Given the description of an element on the screen output the (x, y) to click on. 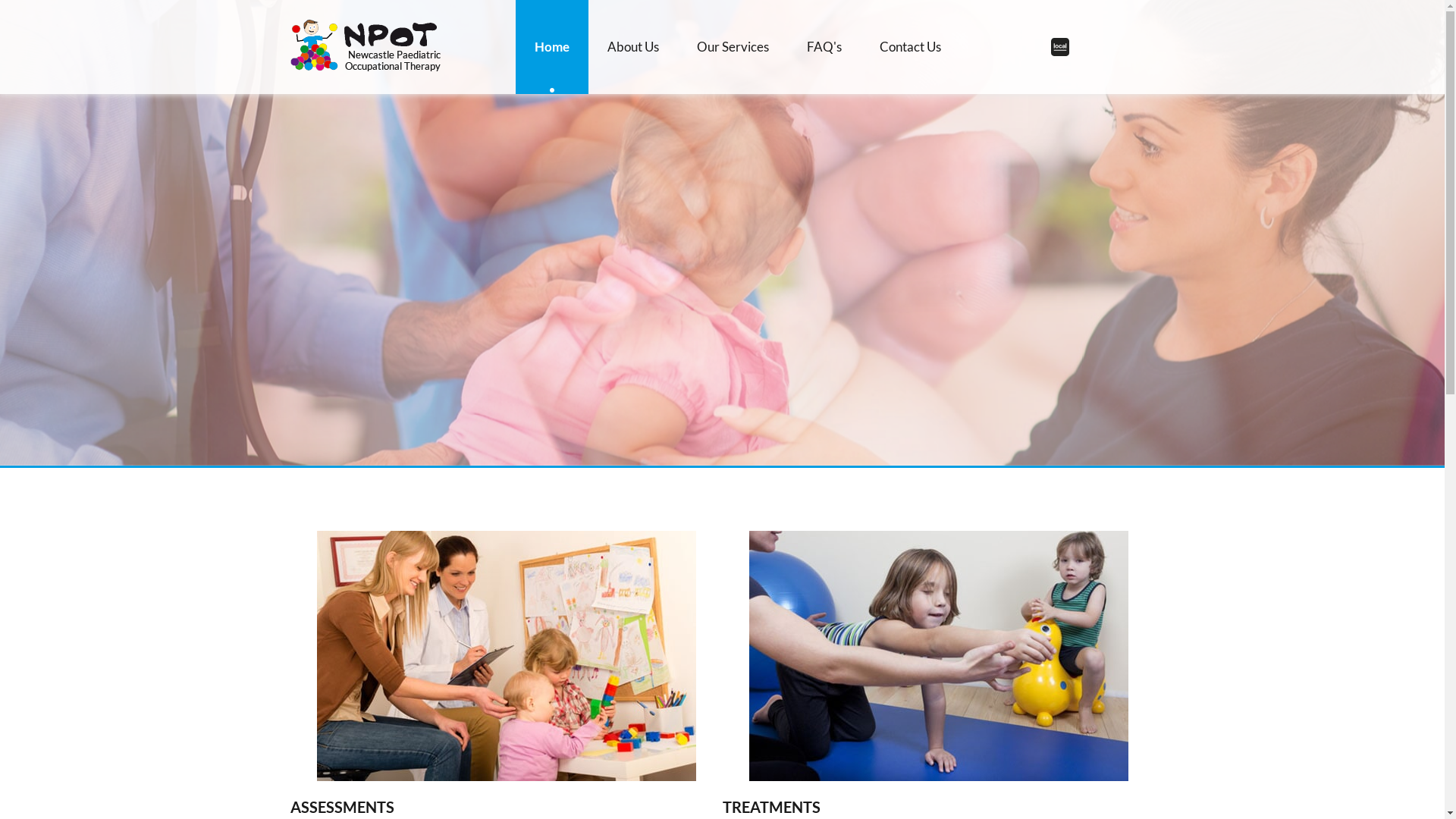
FAQ'S Element type: text (823, 47)
Our Services Element type: text (732, 47)
Contact Us Element type: text (910, 47)
About Us Element type: text (632, 47)
Newcastle Paediatric Occupational Therapy (NPOT) Element type: hover (365, 44)
Home Element type: text (551, 47)
